Given the description of an element on the screen output the (x, y) to click on. 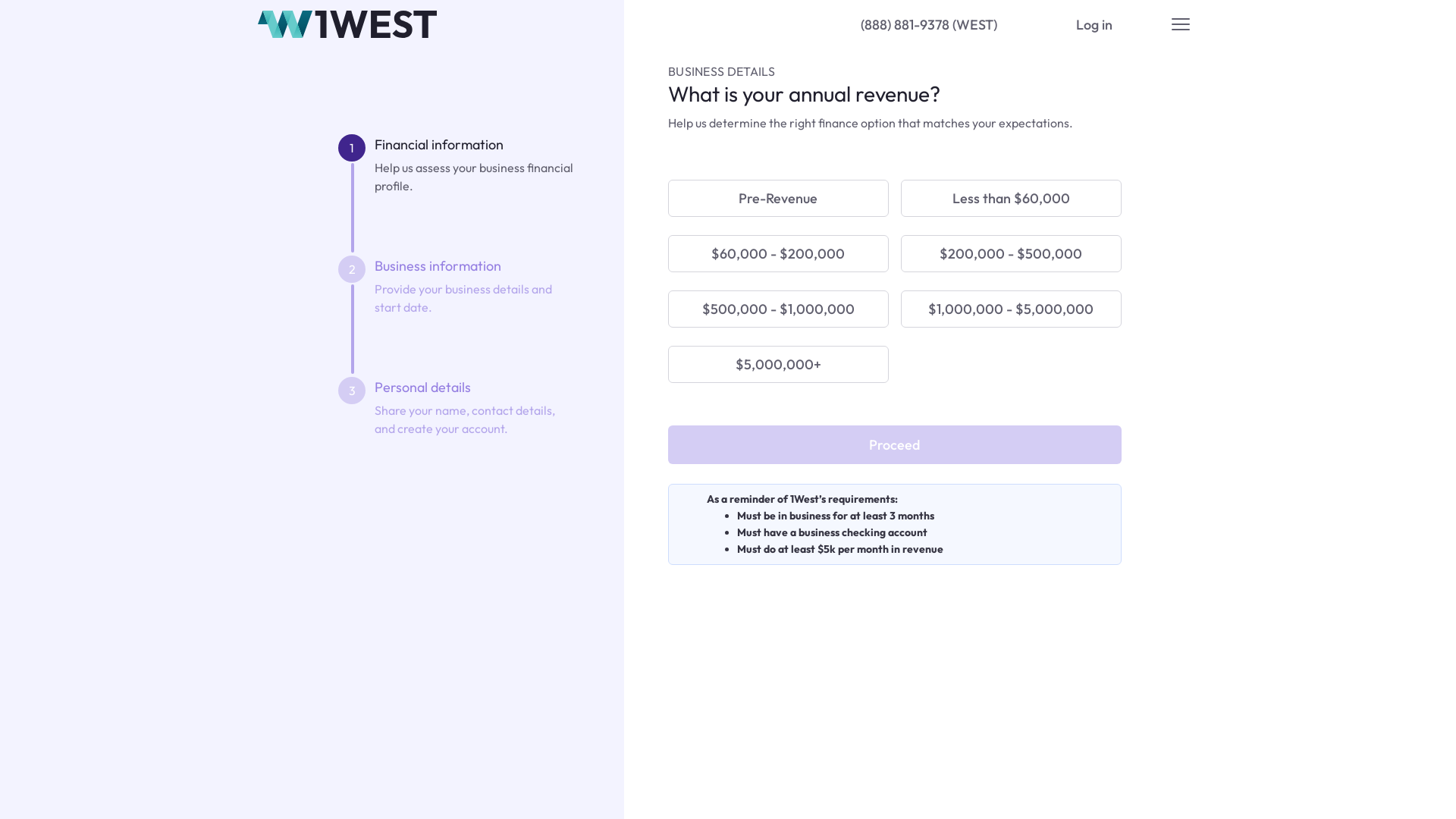
Proceed Element type: text (894, 444)
(888) 881-9378 (WEST) Element type: text (928, 23)
Log in Element type: text (1094, 23)
